Given the description of an element on the screen output the (x, y) to click on. 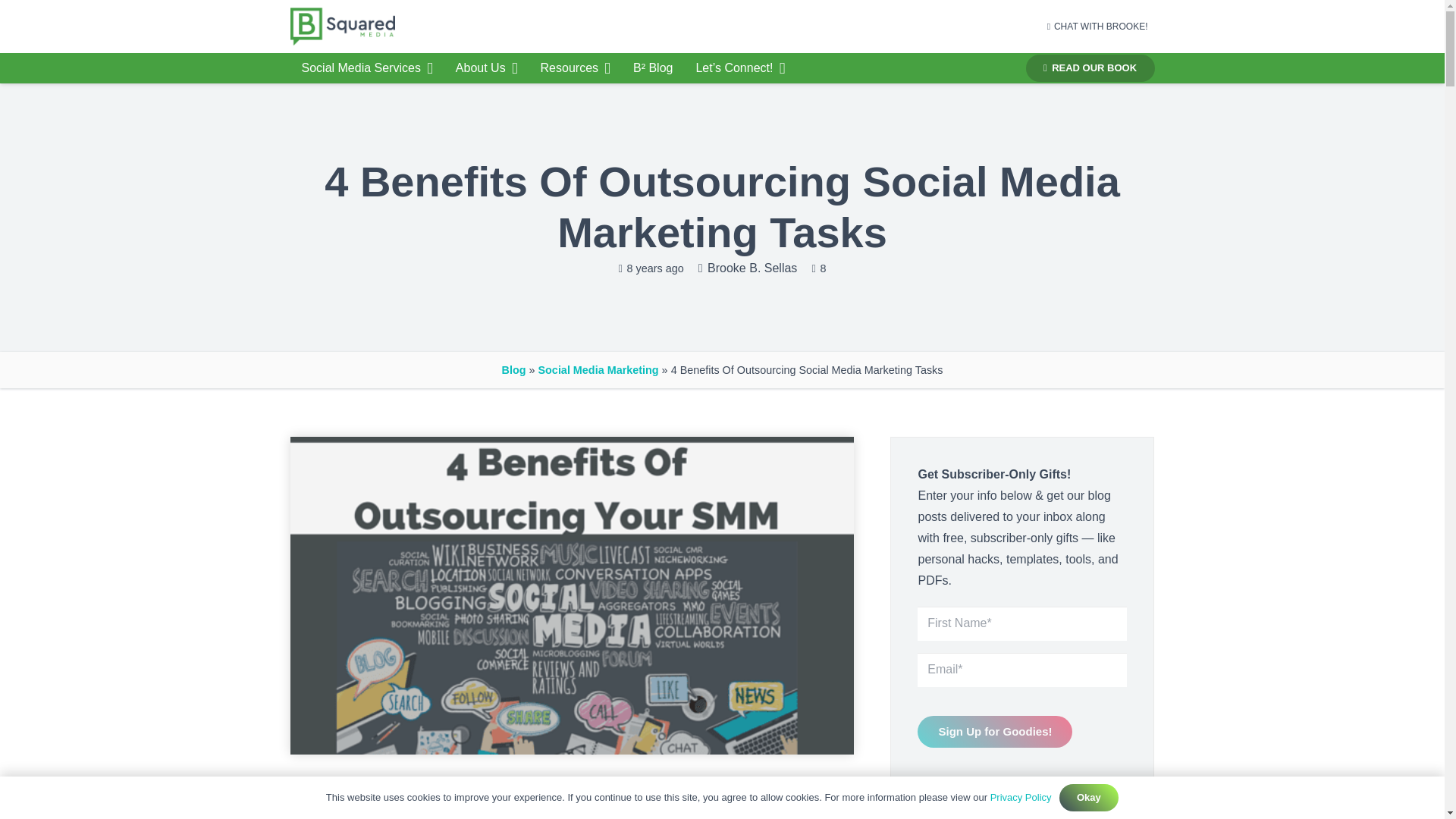
About Us (486, 68)
CHAT WITH BROOKE! (1097, 26)
Social Media Services (366, 68)
Blog (513, 369)
Tweet (524, 812)
Resources (575, 68)
Share (366, 812)
Brooke B. Sellas (751, 268)
Sign Up for Goodies! (994, 731)
READ OUR BOOK (1090, 67)
Social Media Marketing (597, 369)
